Given the description of an element on the screen output the (x, y) to click on. 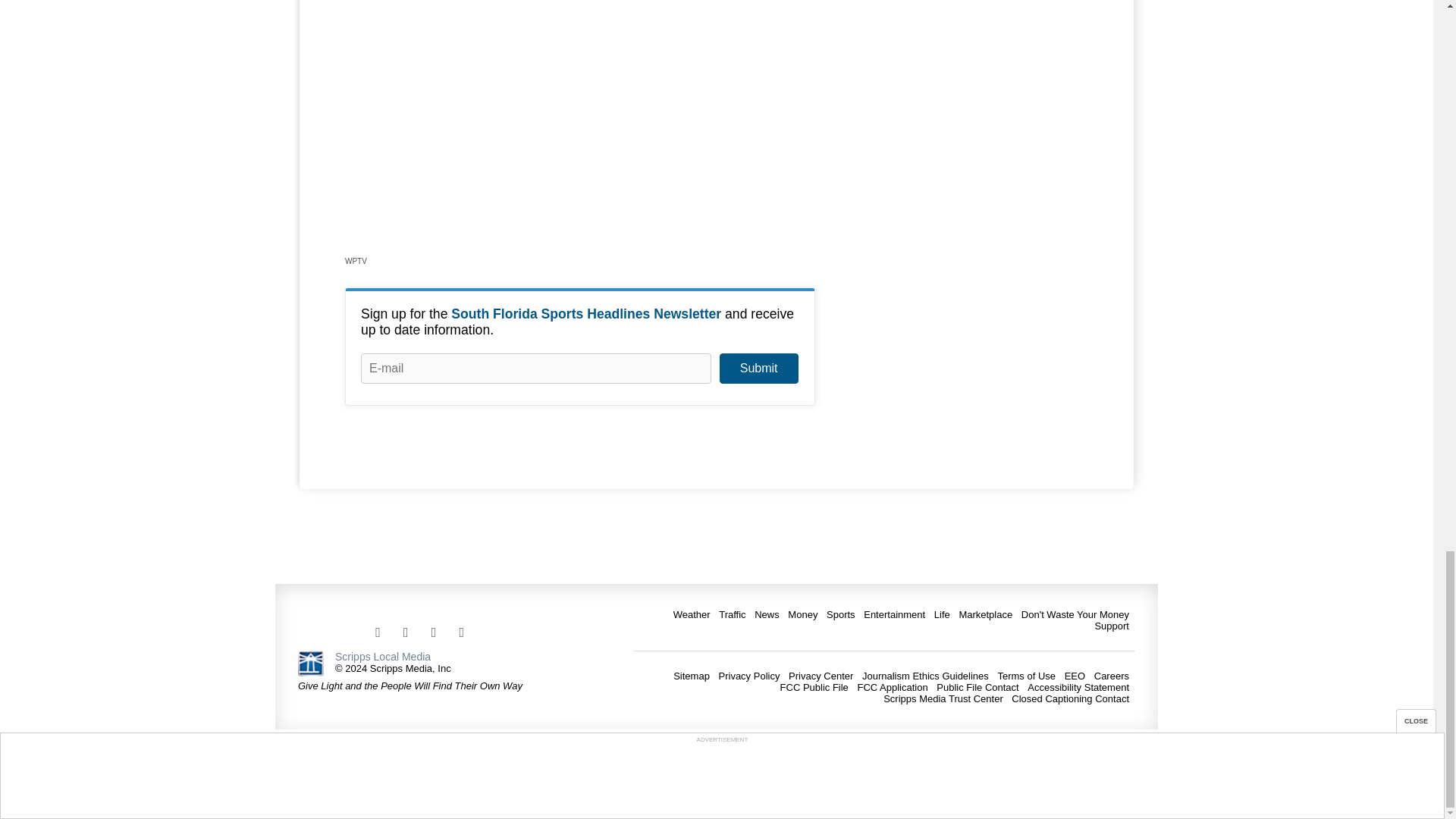
Submit (758, 368)
